Given the description of an element on the screen output the (x, y) to click on. 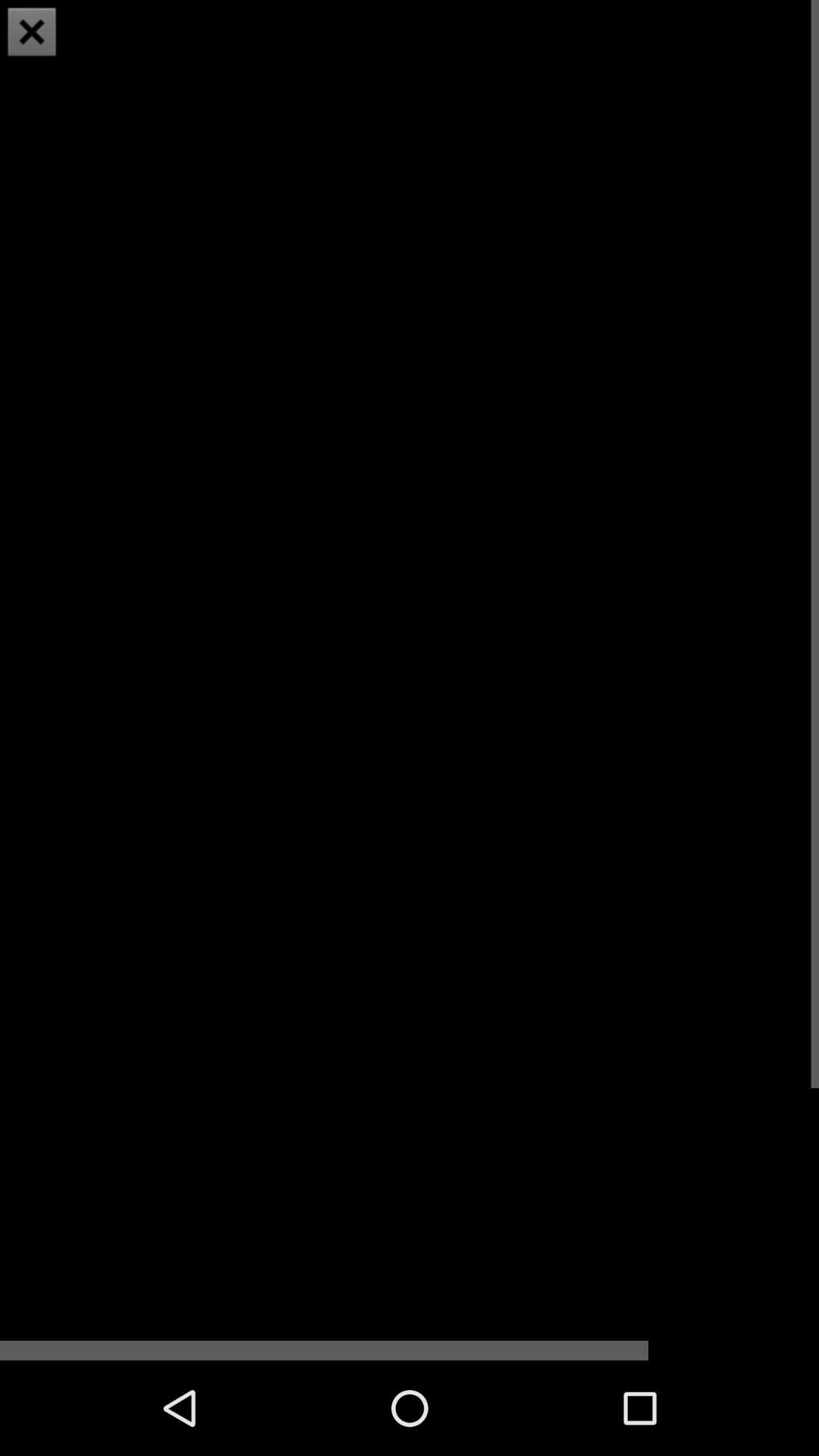
click item at the top left corner (31, 31)
